Given the description of an element on the screen output the (x, y) to click on. 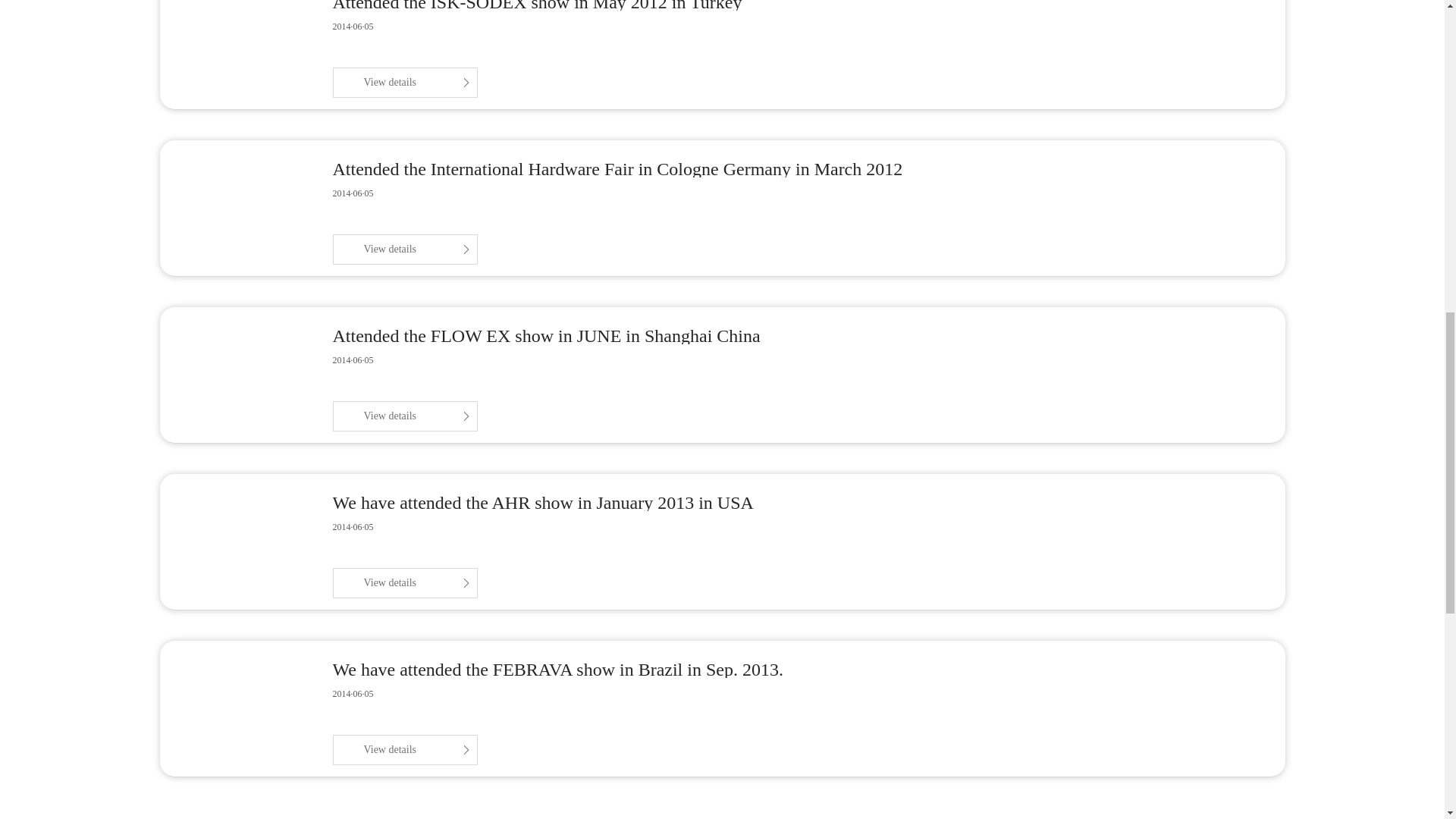
Click to see details (404, 749)
Click to see details (404, 583)
Click to see details (404, 82)
Click to see details (404, 249)
Click to see details (404, 416)
